Given the description of an element on the screen output the (x, y) to click on. 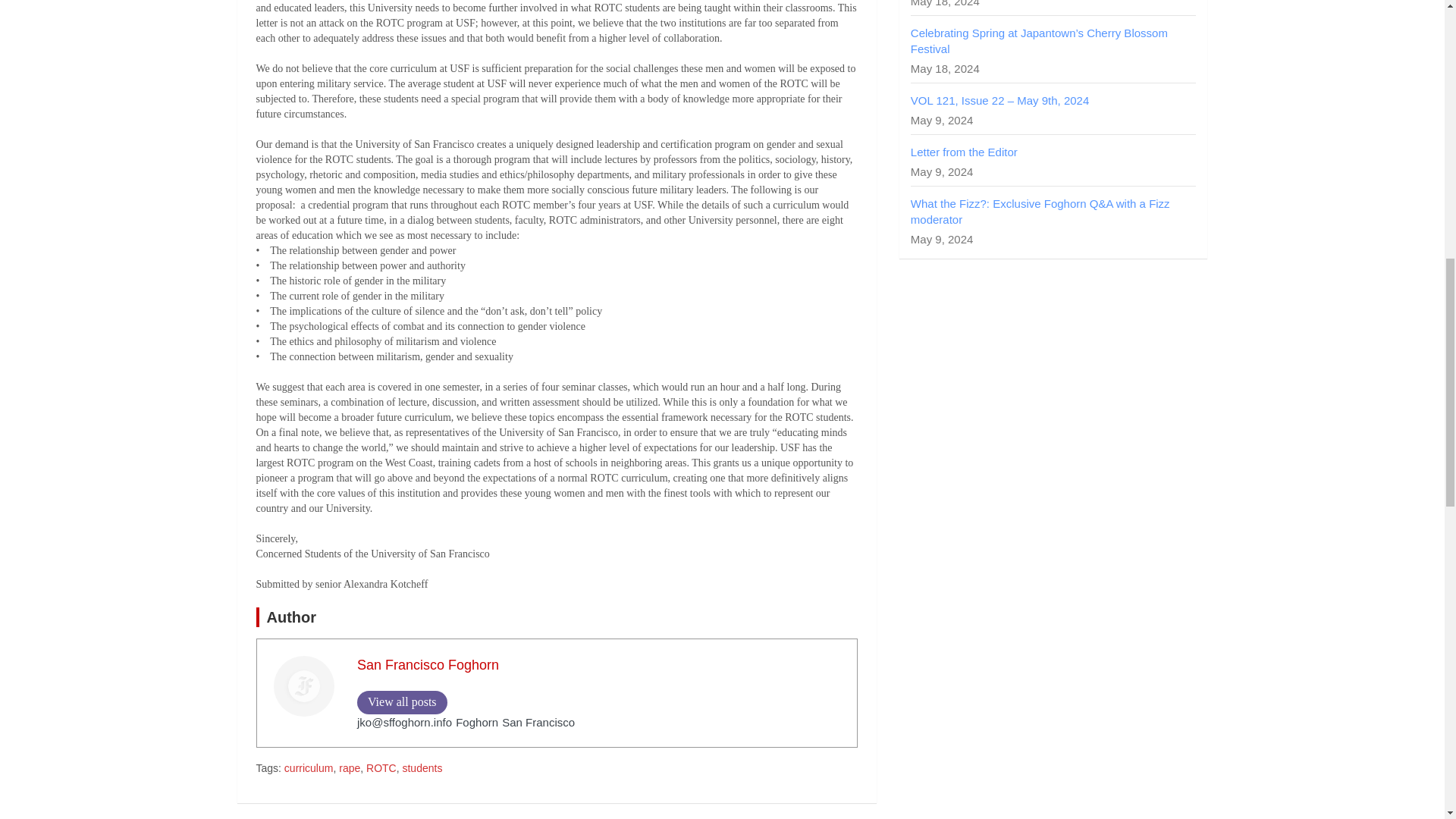
View all posts (401, 702)
View all posts (401, 702)
San Francisco Foghorn (427, 664)
curriculum (308, 768)
San Francisco Foghorn (427, 664)
students (421, 768)
rape (349, 768)
ROTC (381, 768)
